Given the description of an element on the screen output the (x, y) to click on. 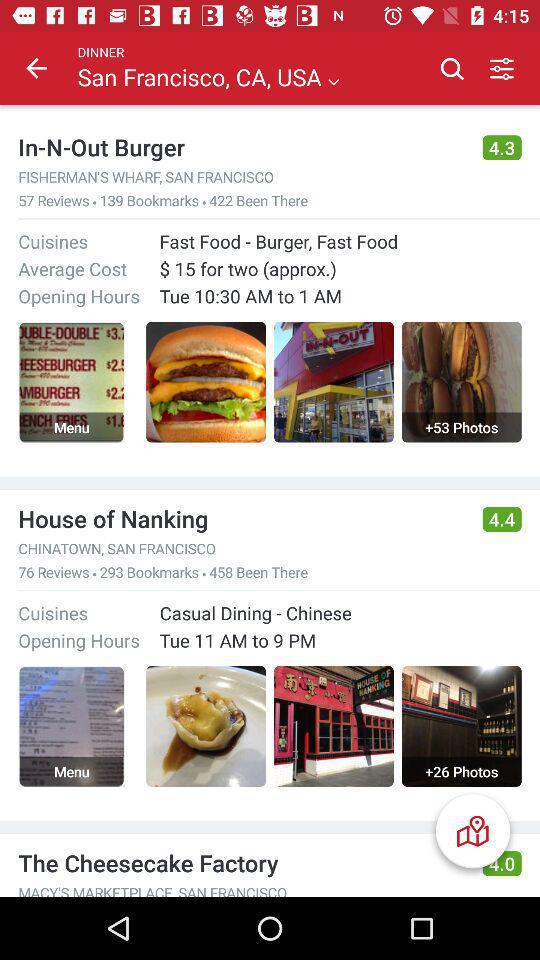
tap icon above tue 11 am (255, 612)
